Given the description of an element on the screen output the (x, y) to click on. 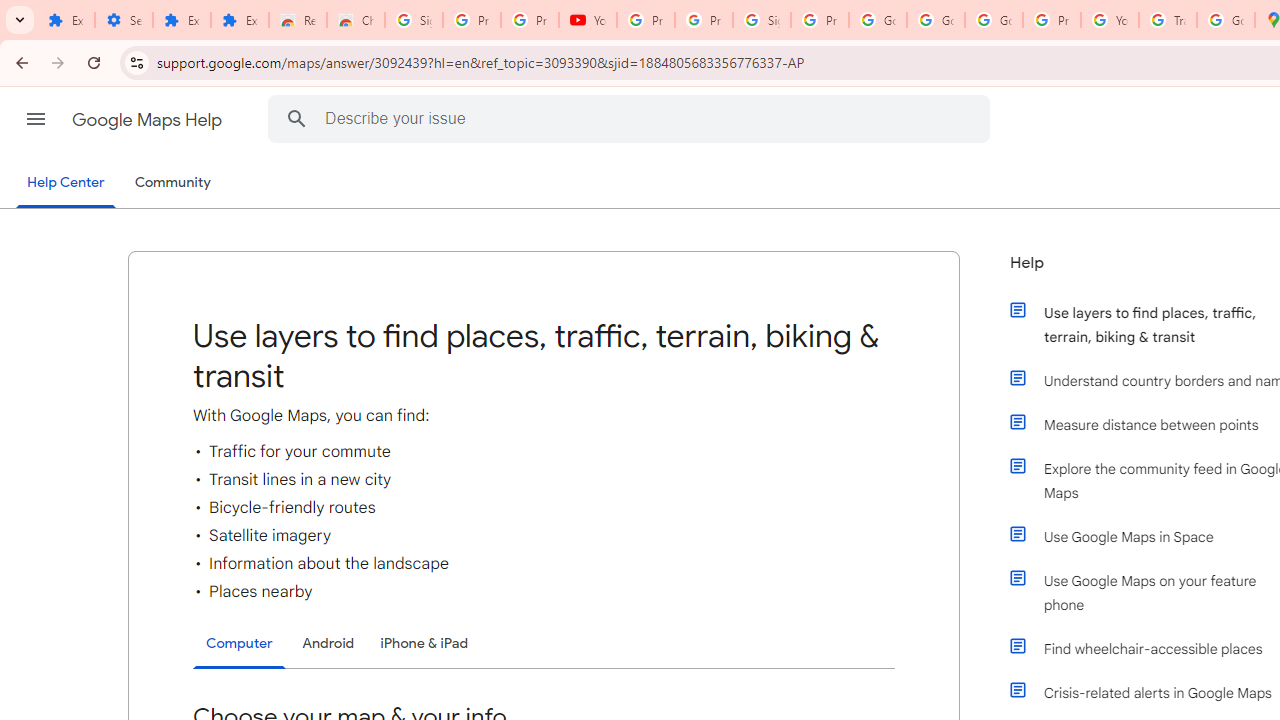
Sign in - Google Accounts (762, 20)
Google Account (936, 20)
Android (328, 642)
Extensions (239, 20)
Describe your issue (632, 118)
YouTube (1110, 20)
Extensions (181, 20)
